Given the description of an element on the screen output the (x, y) to click on. 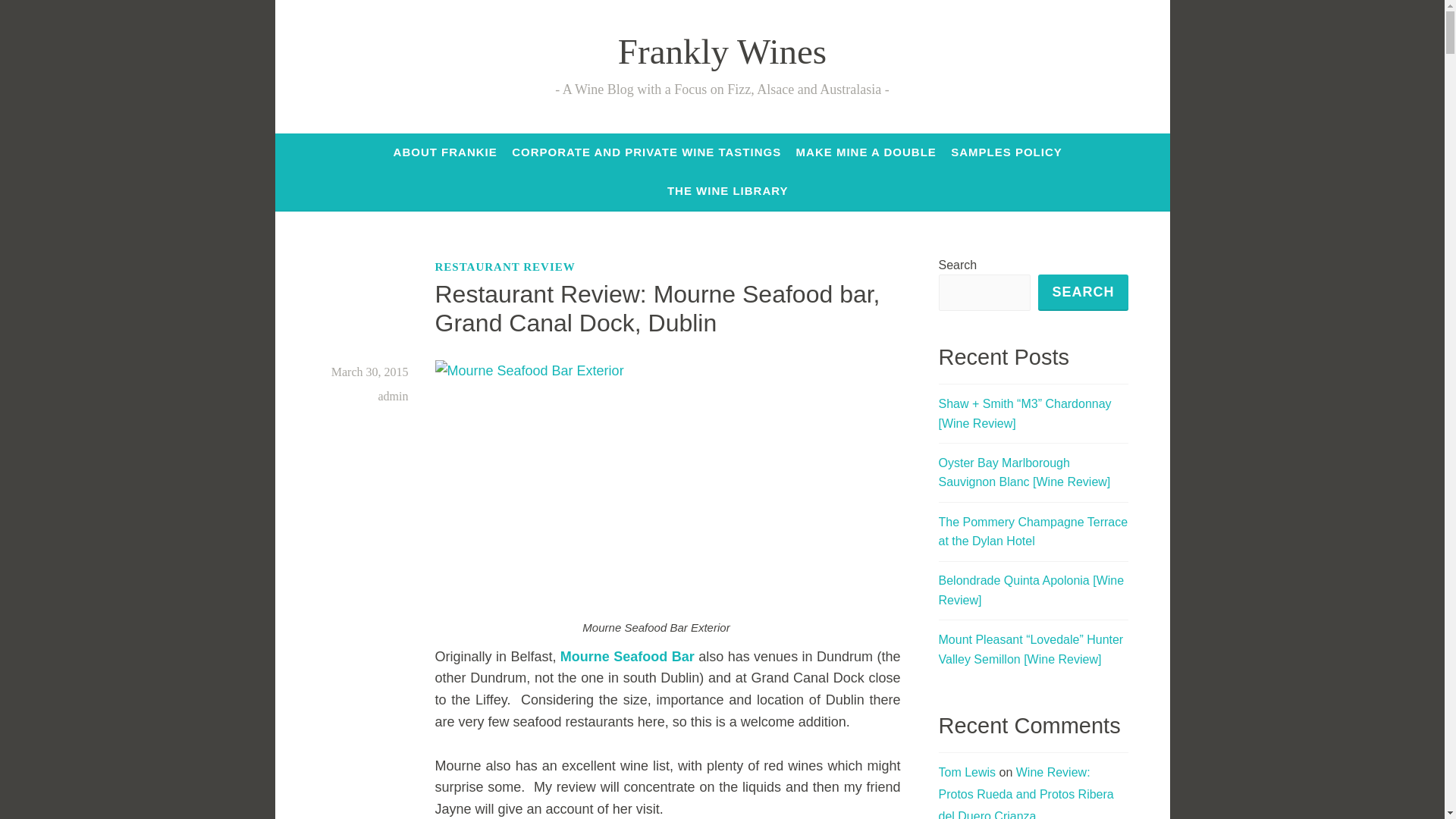
March 30, 2015 (370, 371)
RESTAURANT REVIEW (505, 266)
Frankly Wines (722, 51)
CORPORATE AND PRIVATE WINE TASTINGS (646, 152)
Mourne Seafood Bar (627, 656)
THE WINE LIBRARY (727, 190)
admin (392, 395)
ABOUT FRANKIE (445, 152)
SAMPLES POLICY (1006, 152)
MAKE MINE A DOUBLE (866, 152)
